Given the description of an element on the screen output the (x, y) to click on. 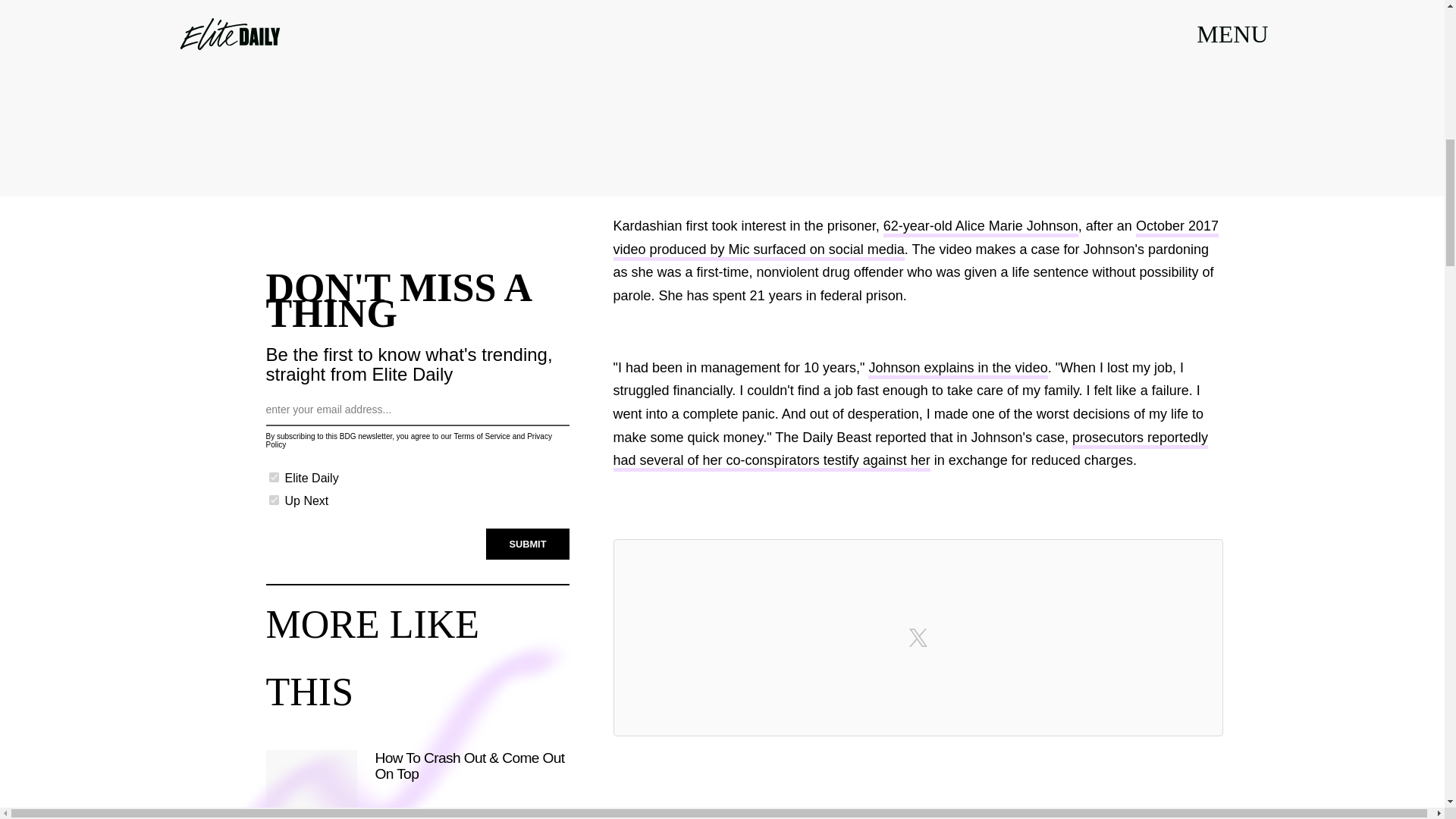
62-year-old Alice Marie Johnson (980, 227)
October 2017 video produced by Mic surfaced on social media (914, 239)
Johnson explains in the video (956, 369)
Privacy Policy (407, 440)
Terms of Service (480, 436)
SUBMIT (527, 544)
